Given the description of an element on the screen output the (x, y) to click on. 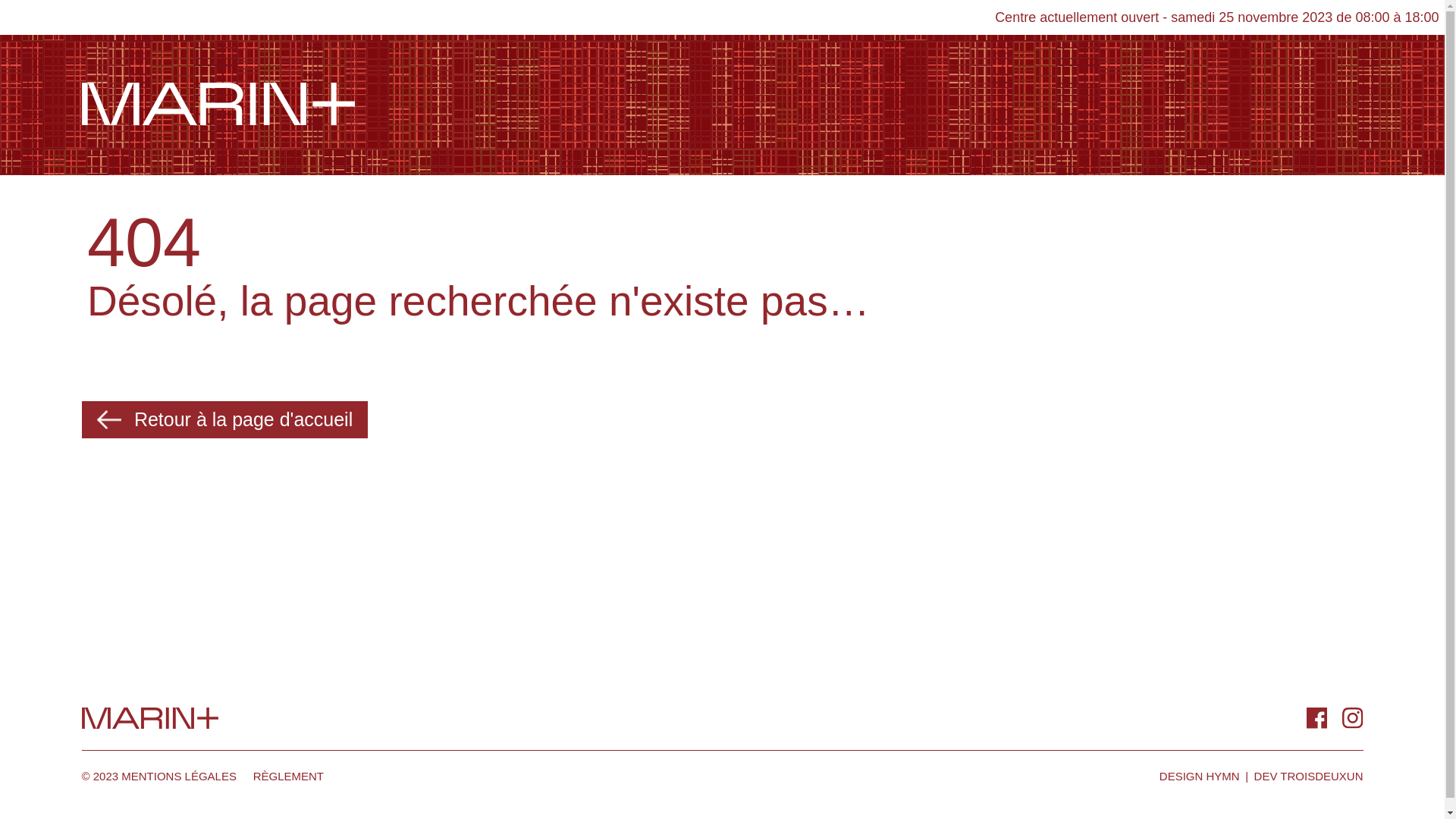
Instagram Element type: hover (1352, 718)
Marin+, Marin Centre tout, simplement. Element type: hover (217, 105)
HYMN Element type: text (1222, 775)
Facebook Element type: hover (1316, 719)
TROISDEUXUN Element type: text (1321, 775)
